Given the description of an element on the screen output the (x, y) to click on. 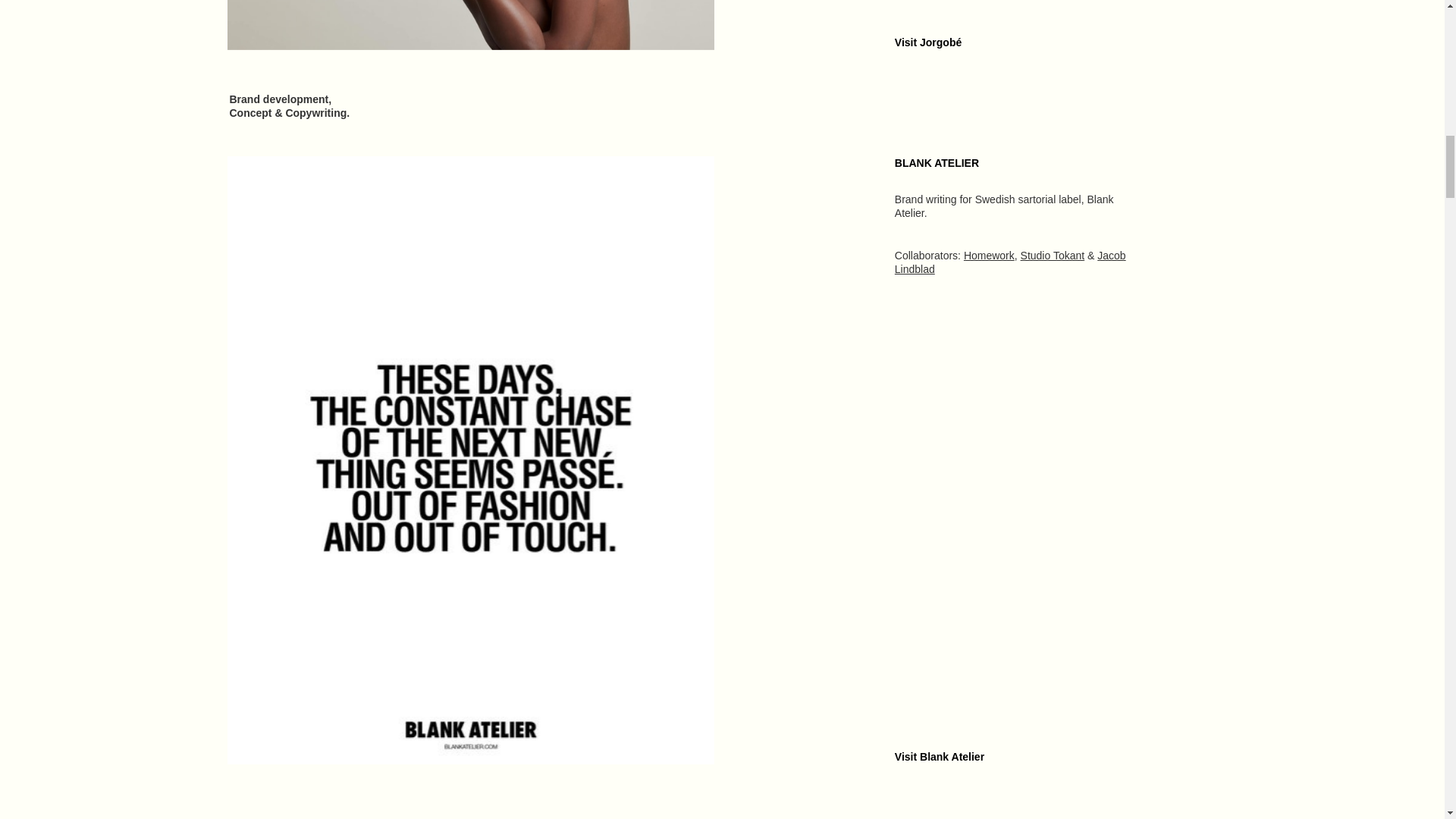
Homework (988, 255)
Jacob Lindblad (1010, 262)
Studio Tokant (1052, 255)
Visit Blank Atelier (939, 756)
